Given the description of an element on the screen output the (x, y) to click on. 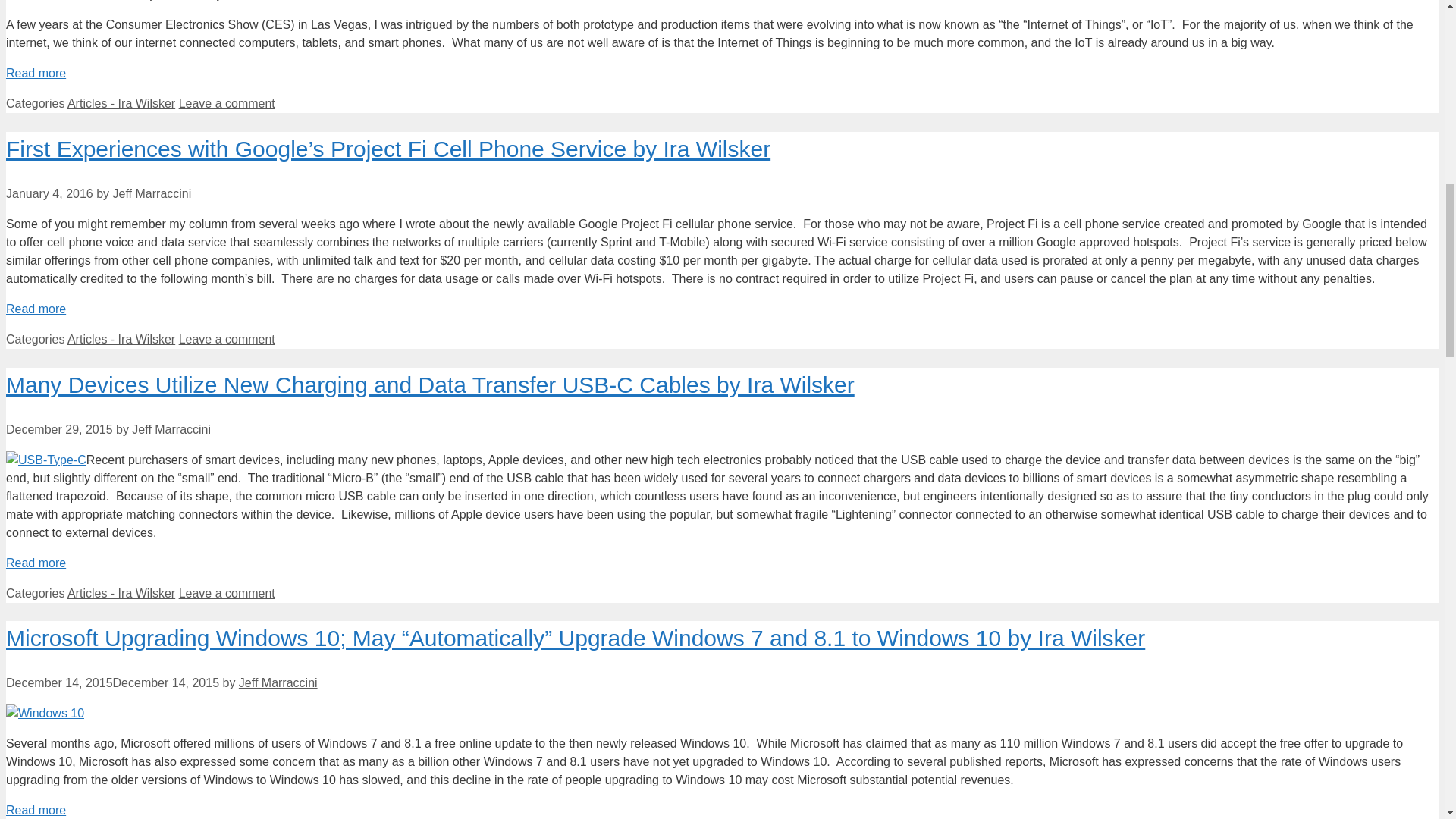
Jeff Marraccini (152, 193)
View all posts by Jeff Marraccini (171, 429)
Jeff Marraccini (171, 429)
Leave a comment (227, 338)
Read more (35, 308)
Articles - Ira Wilsker (120, 103)
Read more (35, 72)
Articles - Ira Wilsker (120, 338)
View all posts by Jeff Marraccini (277, 682)
View all posts by Jeff Marraccini (152, 193)
Leave a comment (227, 103)
